Given the description of an element on the screen output the (x, y) to click on. 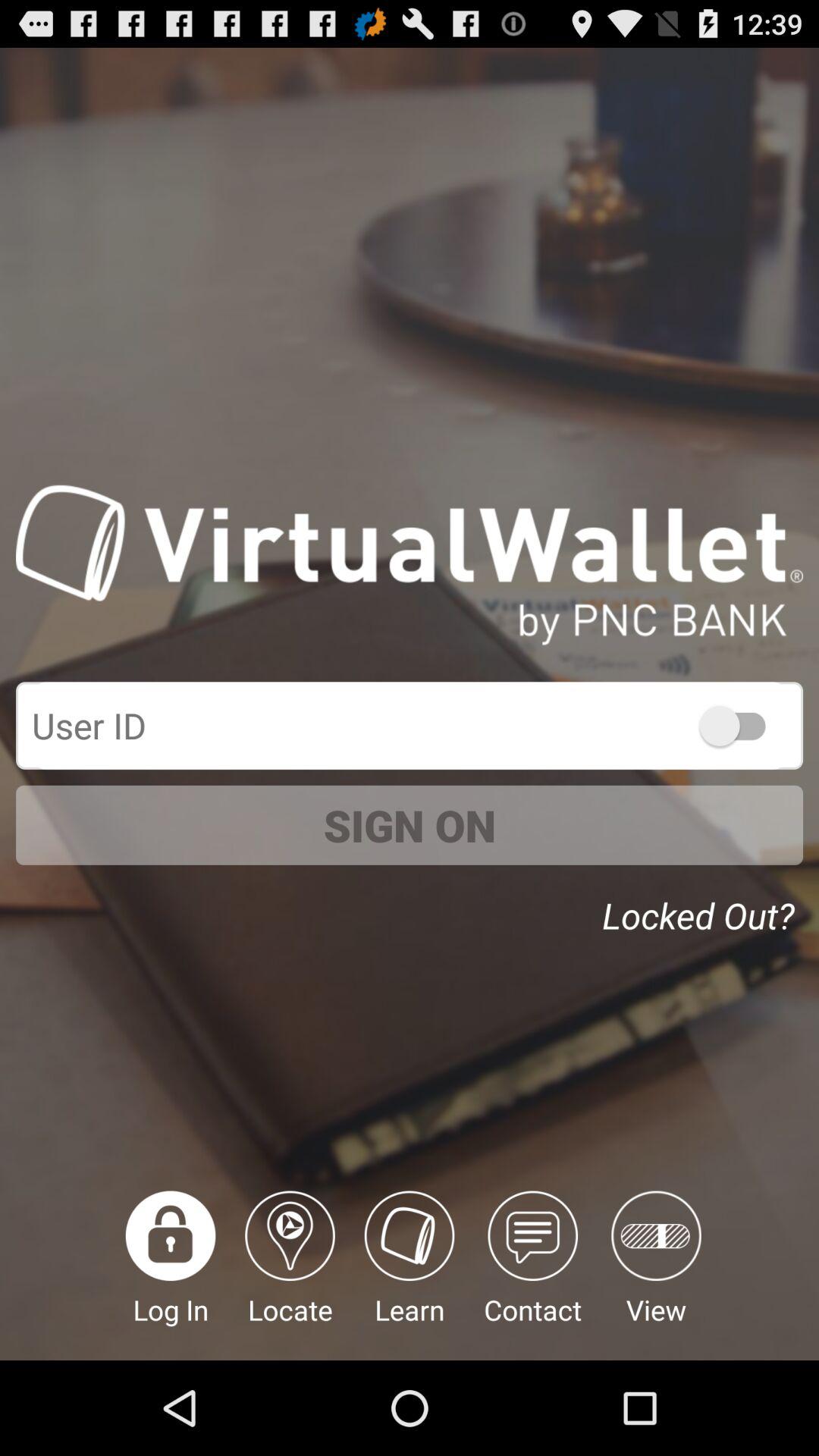
flip to the contact (532, 1275)
